Given the description of an element on the screen output the (x, y) to click on. 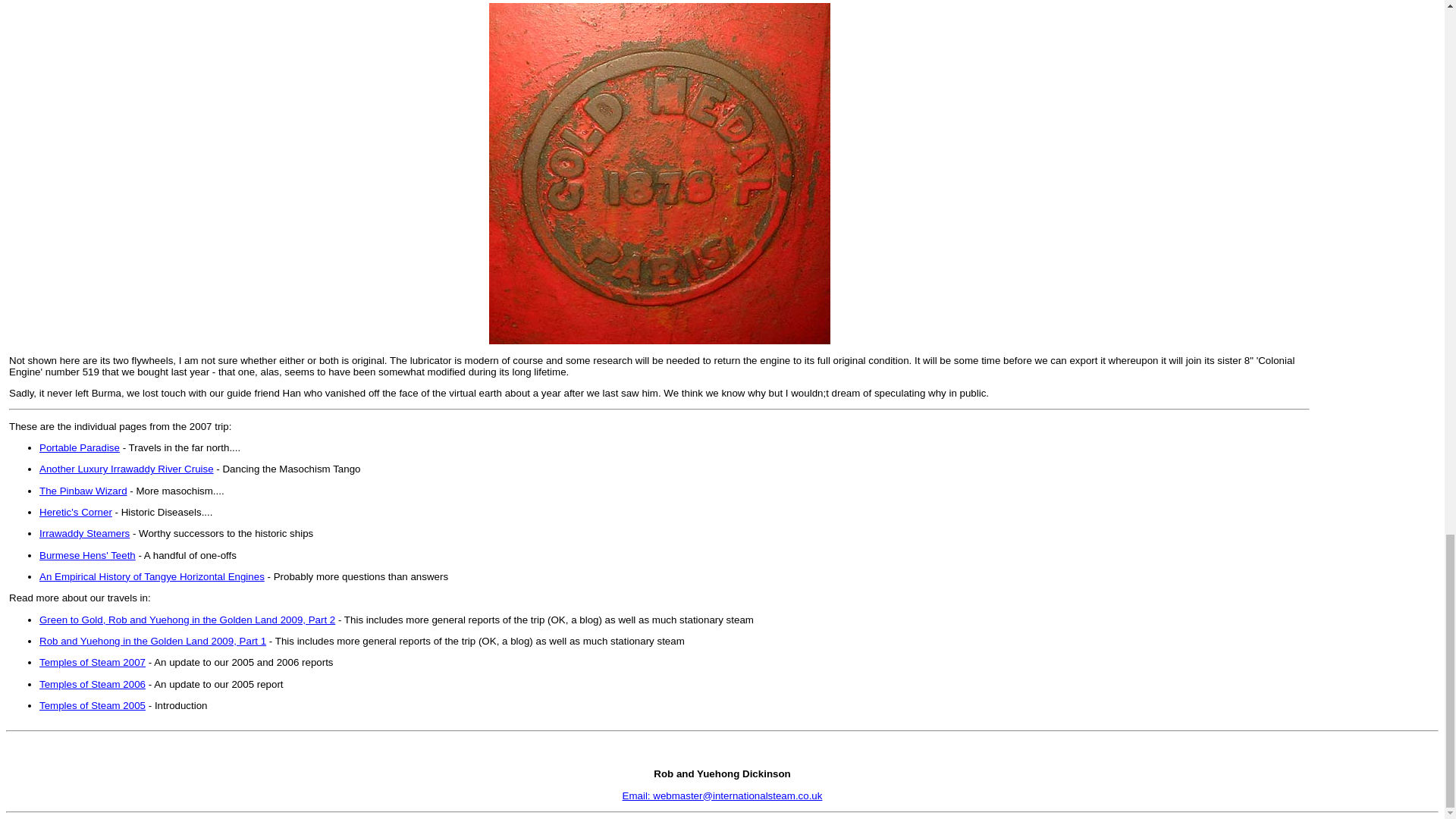
Heretic's Corner (75, 511)
Irrawaddy Steamers (84, 532)
Burmese Hens' Teeth (87, 555)
Another Luxury Irrawaddy River Cruise (126, 469)
The Pinbaw Wizard (83, 490)
Portable Paradise (79, 447)
Temples of Steam 2007 (92, 662)
An Empirical History of Tangye Horizontal Engines (151, 576)
Temples of Steam 2006 (92, 684)
